Given the description of an element on the screen output the (x, y) to click on. 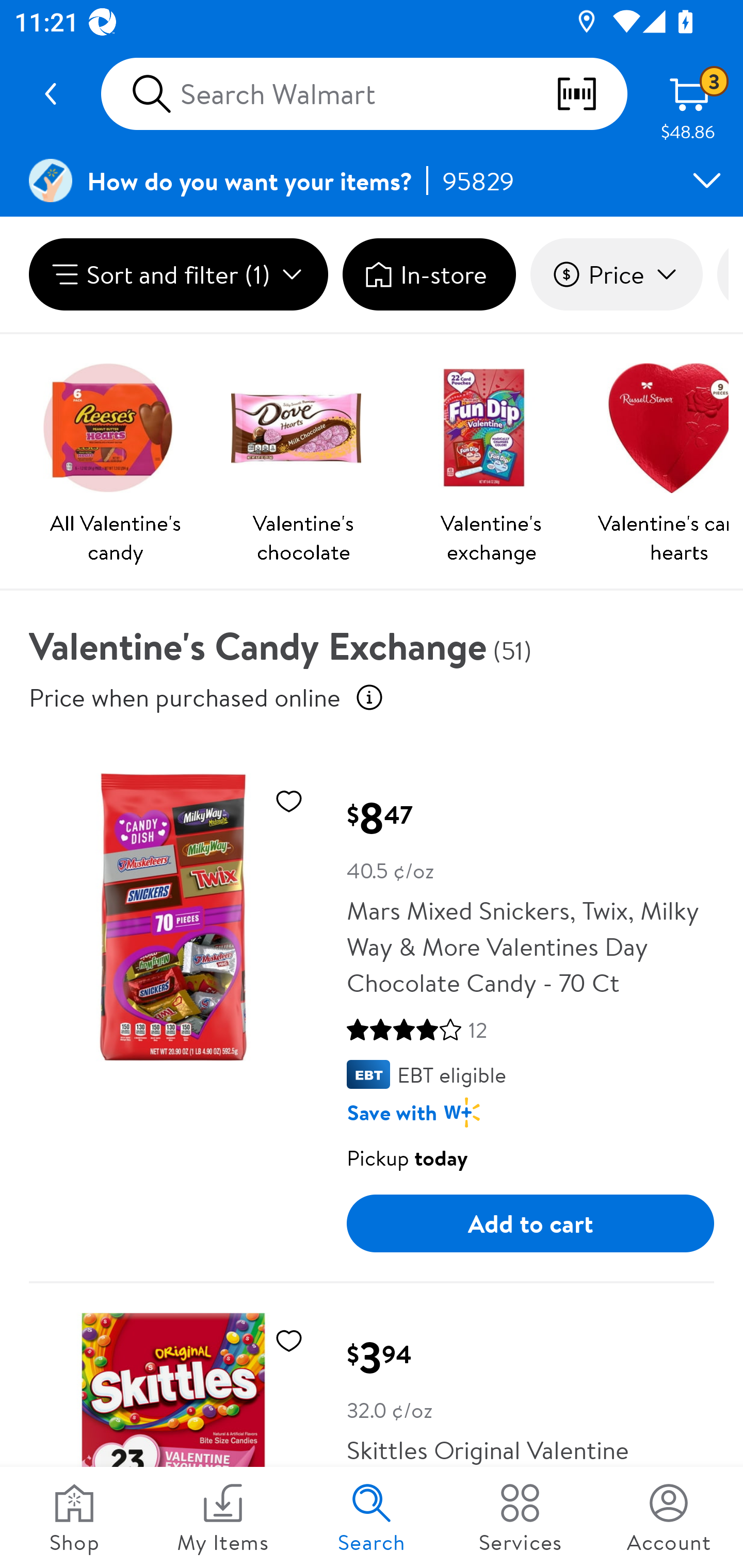
Navigate up (50, 93)
Search Walmart scan barcodes qr codes and more (364, 94)
scan barcodes qr codes and more (591, 94)
Filter by In-store, applied,  Filter icon In-store (428, 274)
Price when purchased online (184, 696)
Price when purchased online (369, 697)
Add to cart (530, 1223)
Shop (74, 1517)
My Items (222, 1517)
Services (519, 1517)
Account (668, 1517)
